Given the description of an element on the screen output the (x, y) to click on. 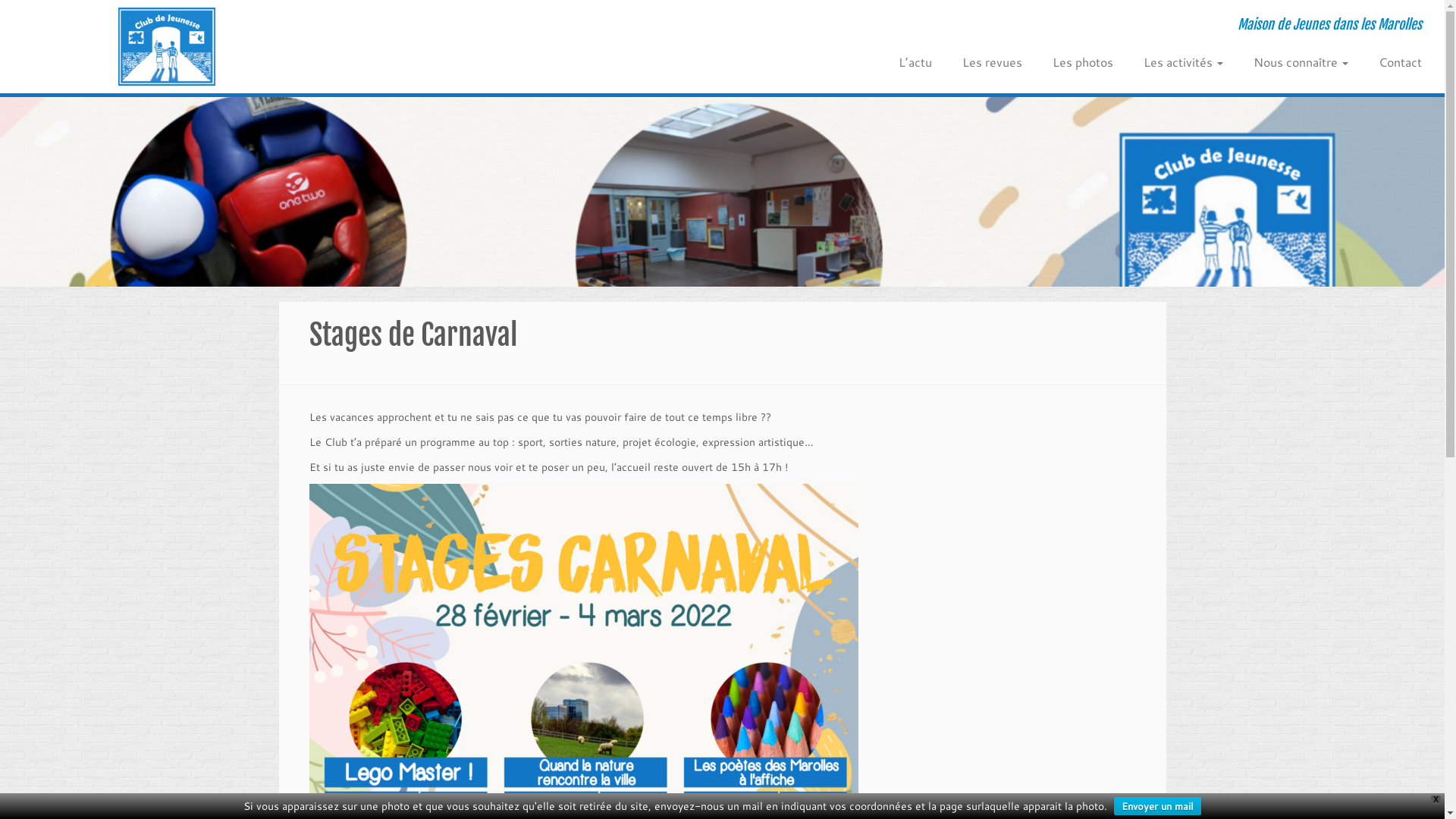
Les revues Element type: text (992, 62)
Contact Element type: text (1392, 62)
Les photos Element type: text (1082, 62)
Envoyer un mail Element type: text (1157, 806)
